Given the description of an element on the screen output the (x, y) to click on. 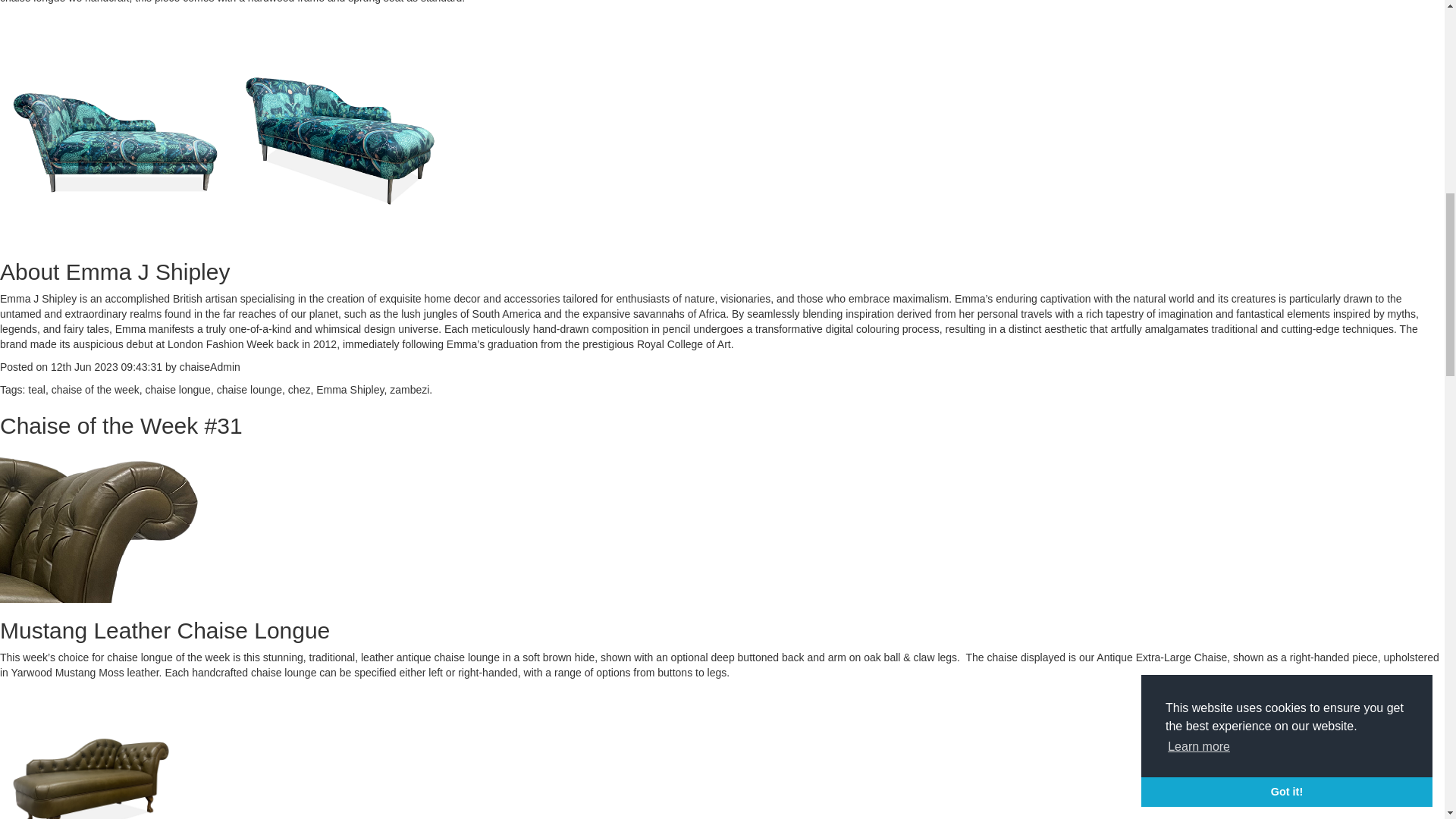
teal (36, 389)
chaise longue (176, 389)
Emma J Shipley (38, 298)
chaise of the week (94, 389)
chaise longue (32, 2)
